Given the description of an element on the screen output the (x, y) to click on. 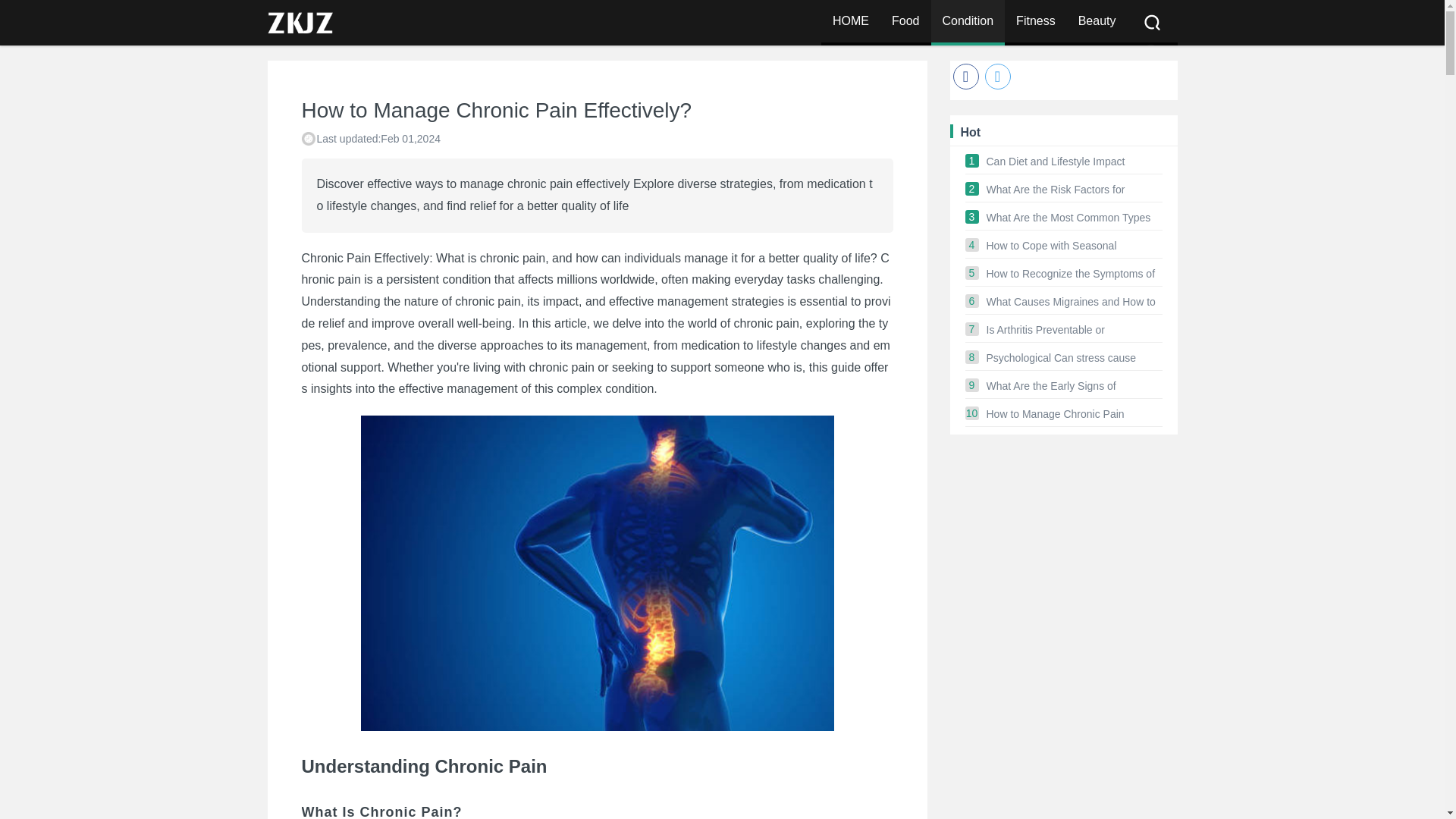
Condition (968, 22)
Beauty (1096, 22)
ZKJZ - zkjz.net (850, 22)
What Are the Most Common Types of Skin Conditions? (1073, 217)
What Are the Risk Factors for Developing Cancer? (1073, 189)
What Causes Migraines and How to Prevent Them? (1073, 301)
Beauty (1096, 22)
How to Manage Chronic Pain Effectively? (1073, 413)
Food (905, 22)
How to Cope with Seasonal Allergies? (1073, 245)
What Are the Risk Factors for Developing Cancer? (1073, 189)
search (1191, 22)
How to Recognize the Symptoms of Anxiety Disorders? (1073, 273)
Is Arthritis Preventable or Manageable? (1073, 329)
What Are the Early Signs of Diabetes? (1073, 385)
